Given the description of an element on the screen output the (x, y) to click on. 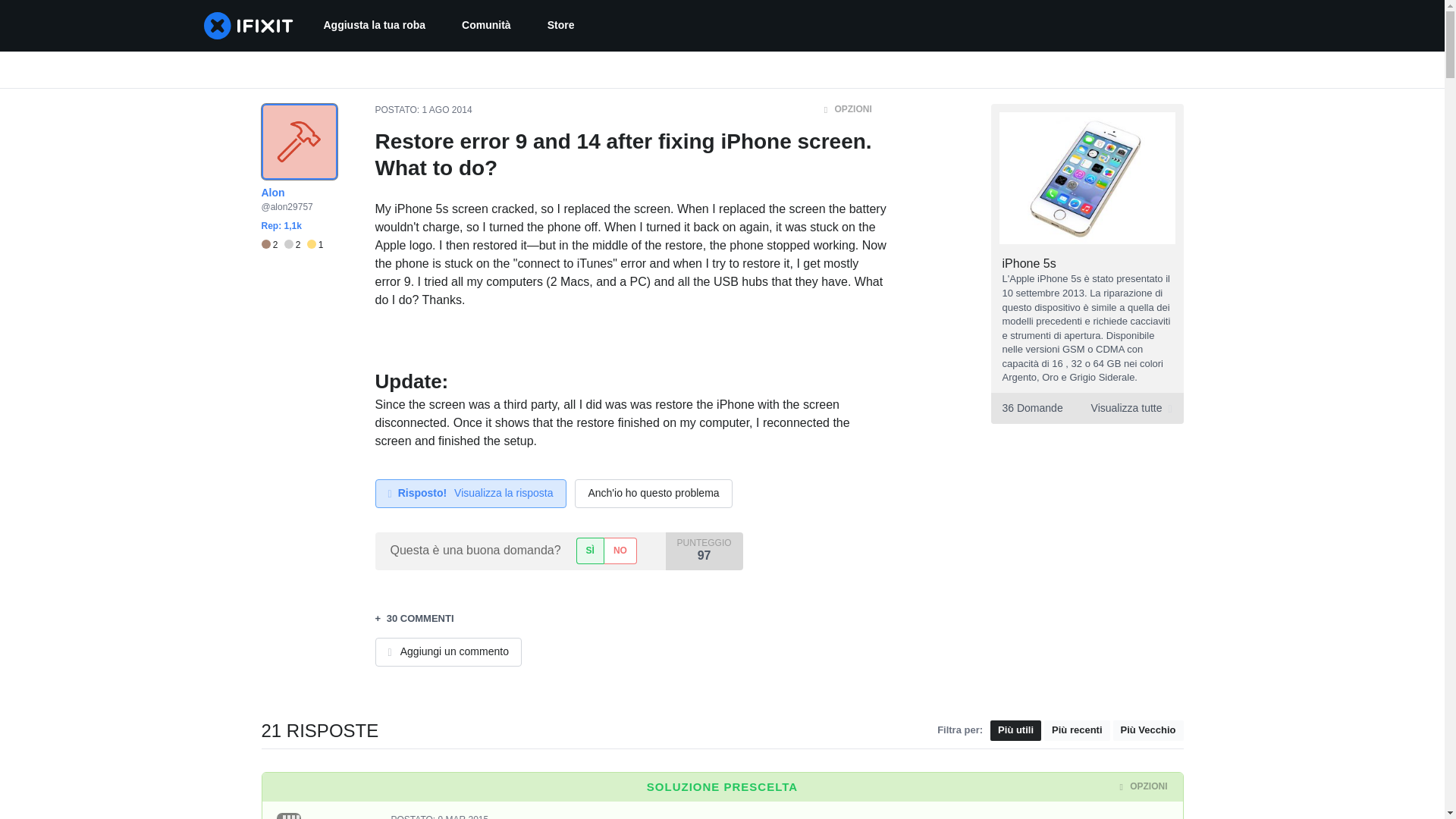
iPhone 5s (1030, 263)
Anch'io ho questo problema (653, 493)
1 Gold distintivi (315, 245)
Aggiusta la tua roba (374, 25)
Aggiungi un commento (1086, 408)
Fri, 01 Aug 2014 19:27:55 -0700 (447, 652)
Mon, 09 Mar 2015 19:54:55 -0700 (446, 109)
Store (463, 816)
POSTATO: 1 AGO 2014 (560, 25)
